Given the description of an element on the screen output the (x, y) to click on. 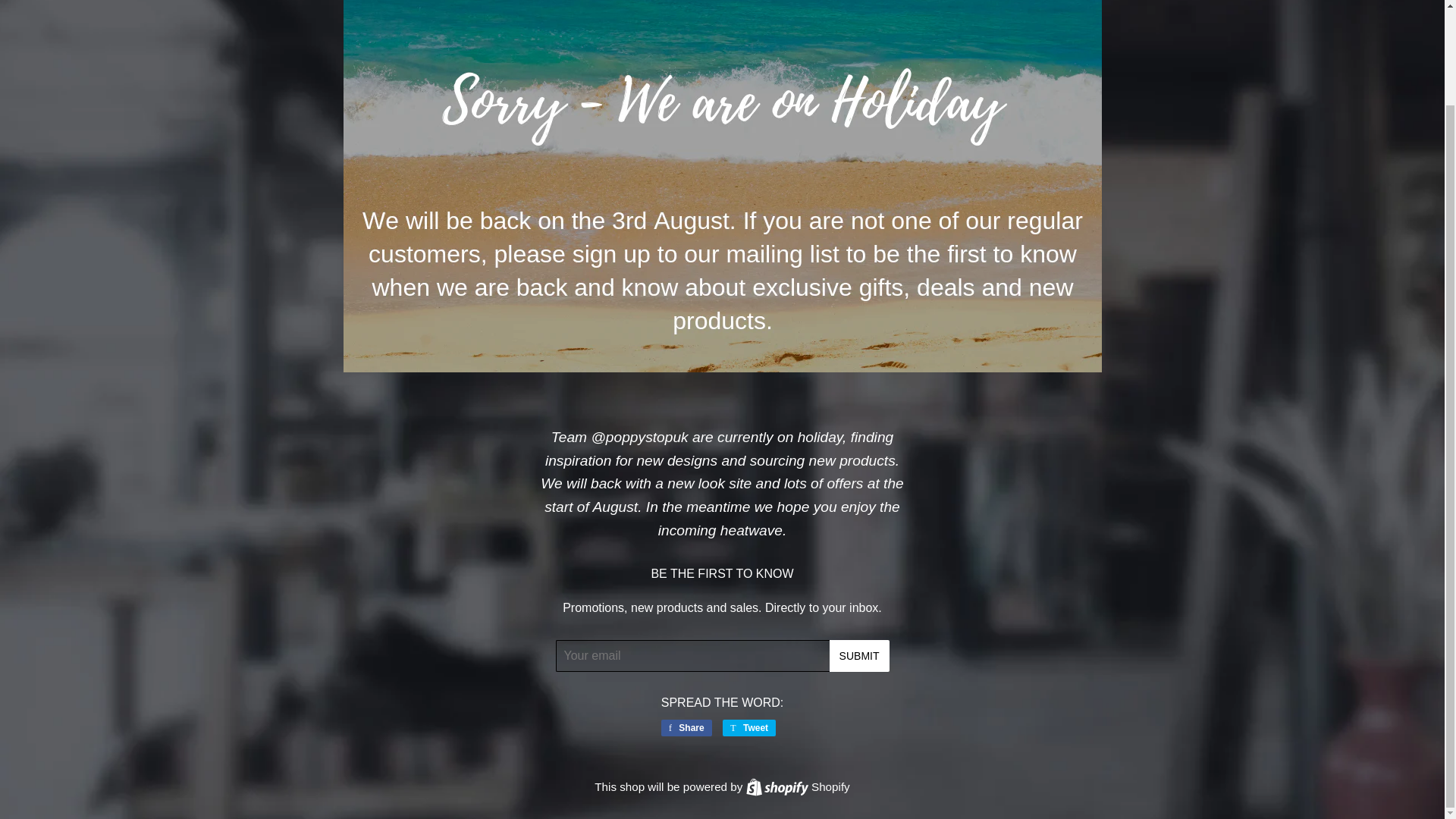
Create your own online store with Shopify (797, 786)
Submit (859, 655)
Shopify logo Shopify (797, 786)
Shopify logo (749, 727)
Share on Facebook (686, 727)
Submit (776, 787)
Tweet on Twitter (686, 727)
